Given the description of an element on the screen output the (x, y) to click on. 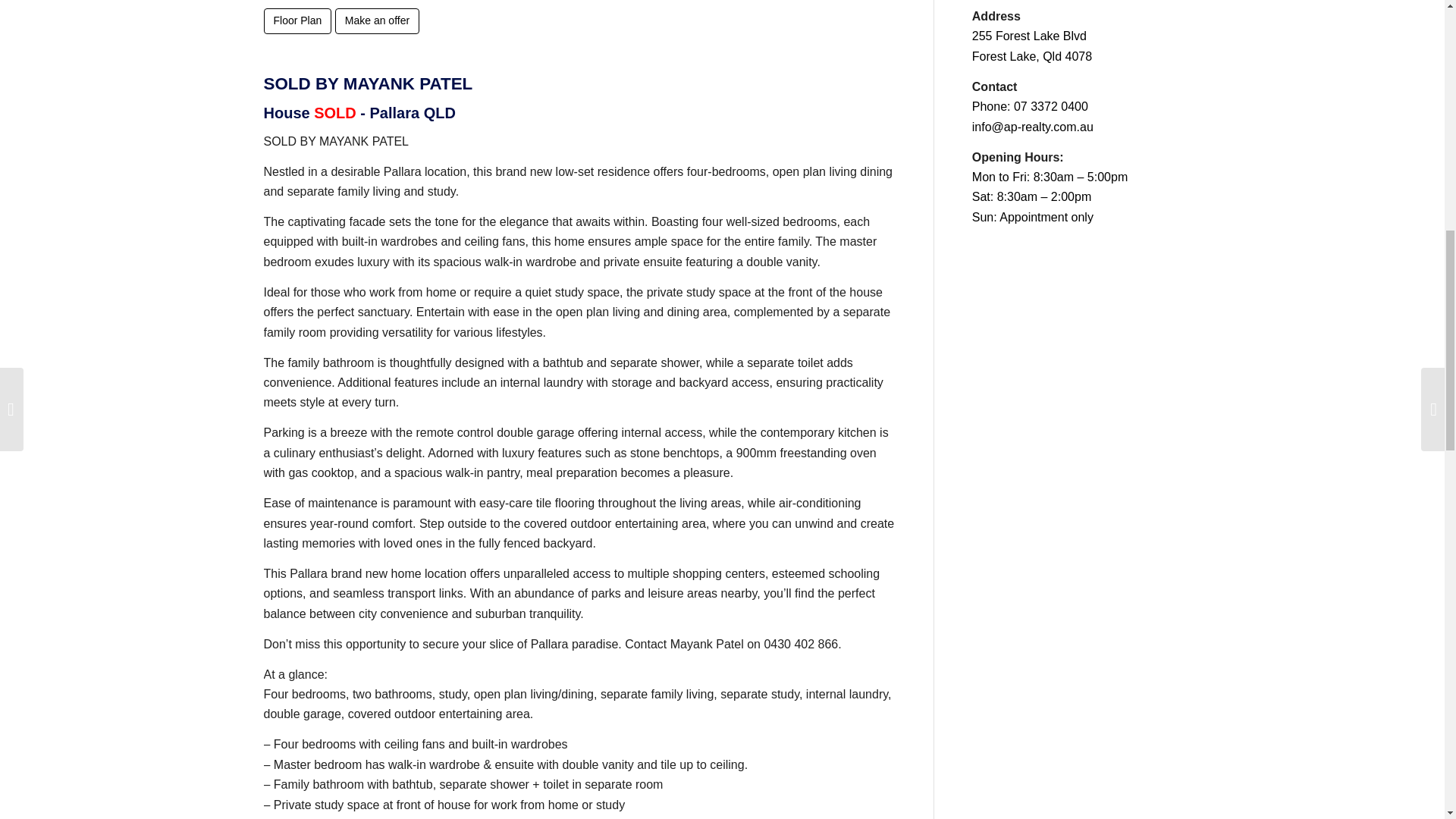
Make an offer (376, 21)
Floor Plan (297, 21)
